Given the description of an element on the screen output the (x, y) to click on. 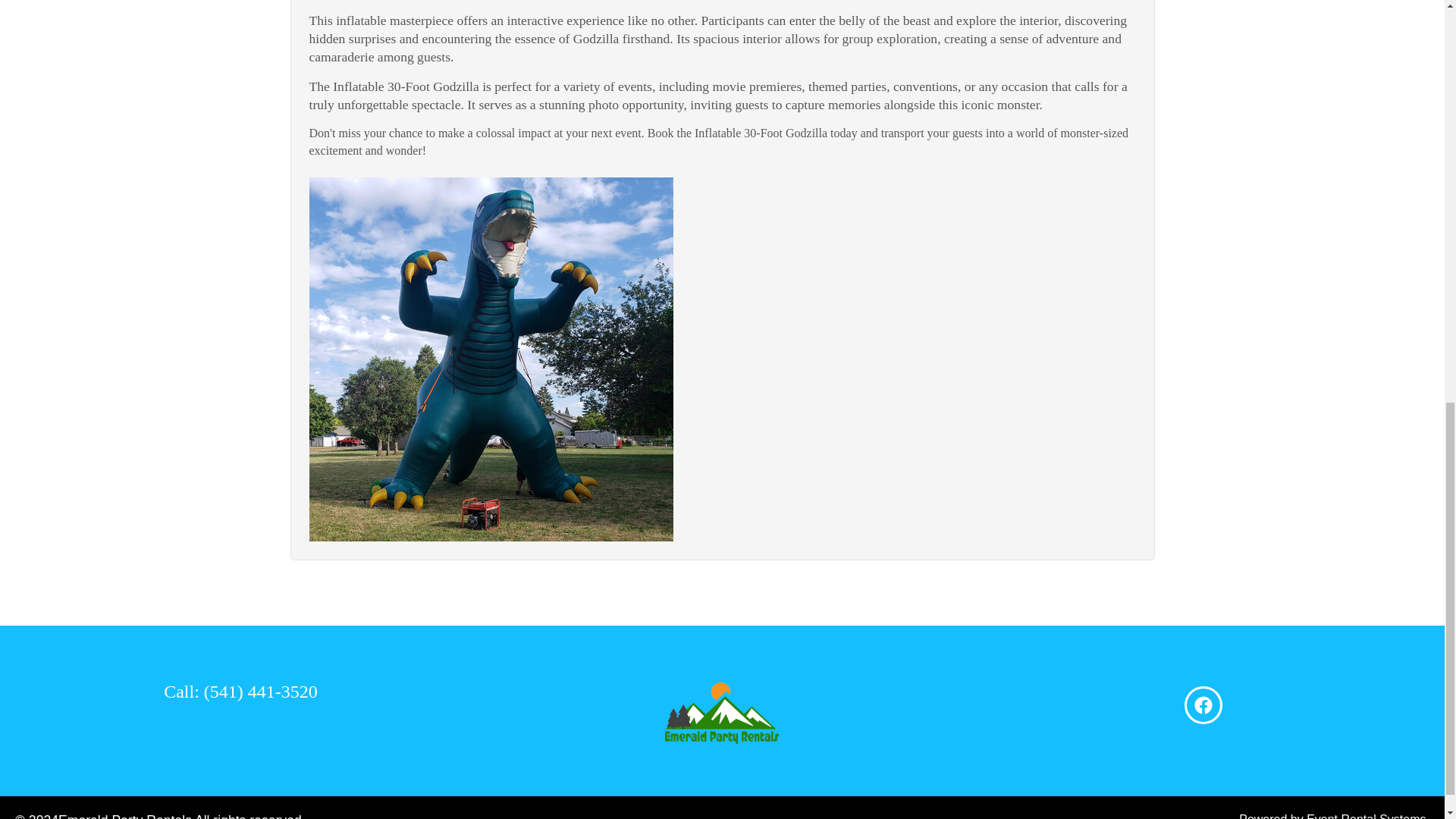
Emerald Party Rentals Facebook (1204, 704)
Event Rental Systems (1365, 816)
